Given the description of an element on the screen output the (x, y) to click on. 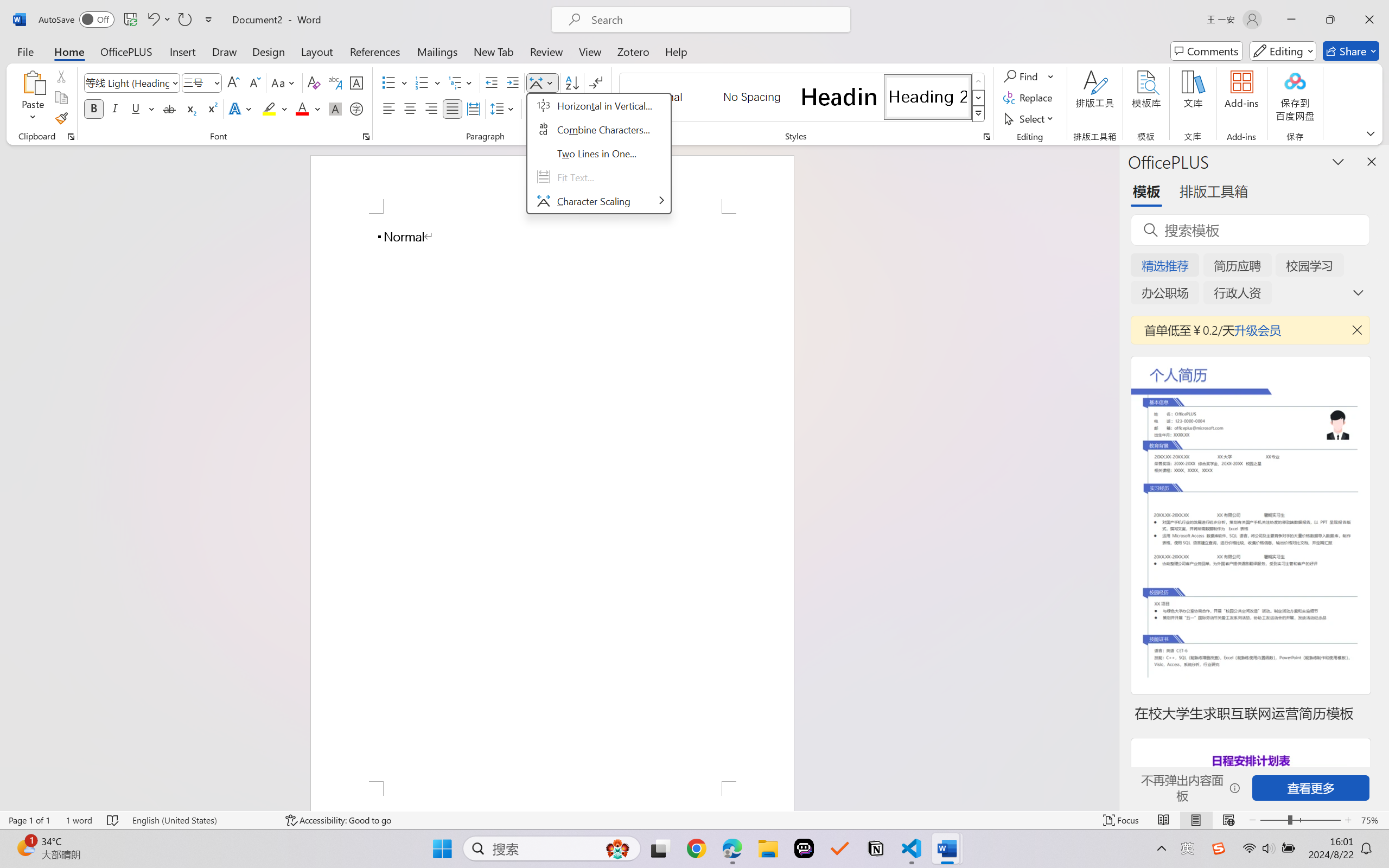
Styles (978, 113)
File Tab (24, 51)
Align Left (388, 108)
Undo Typing (158, 19)
Increase Indent (512, 82)
Zoom Out (1273, 819)
Grow Font (233, 82)
Center (409, 108)
AutomationID: DynamicSearchBoxGleamImage (617, 848)
Character Shading (334, 108)
Find (1022, 75)
